Given the description of an element on the screen output the (x, y) to click on. 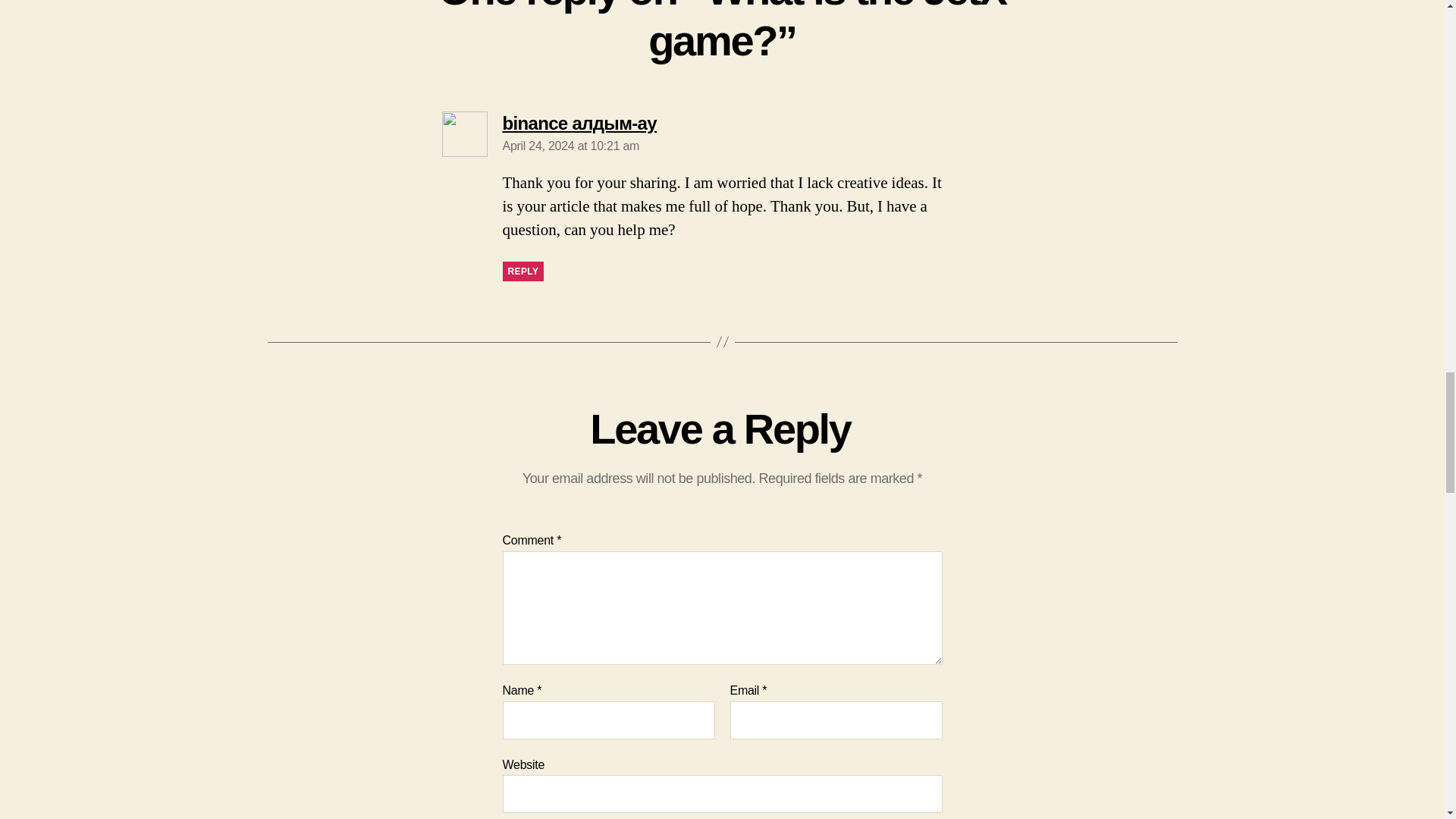
REPLY (522, 271)
REPLY (522, 271)
April 24, 2024 at 10:21 am (570, 145)
April 24, 2024 at 10:21 am (570, 145)
